Given the description of an element on the screen output the (x, y) to click on. 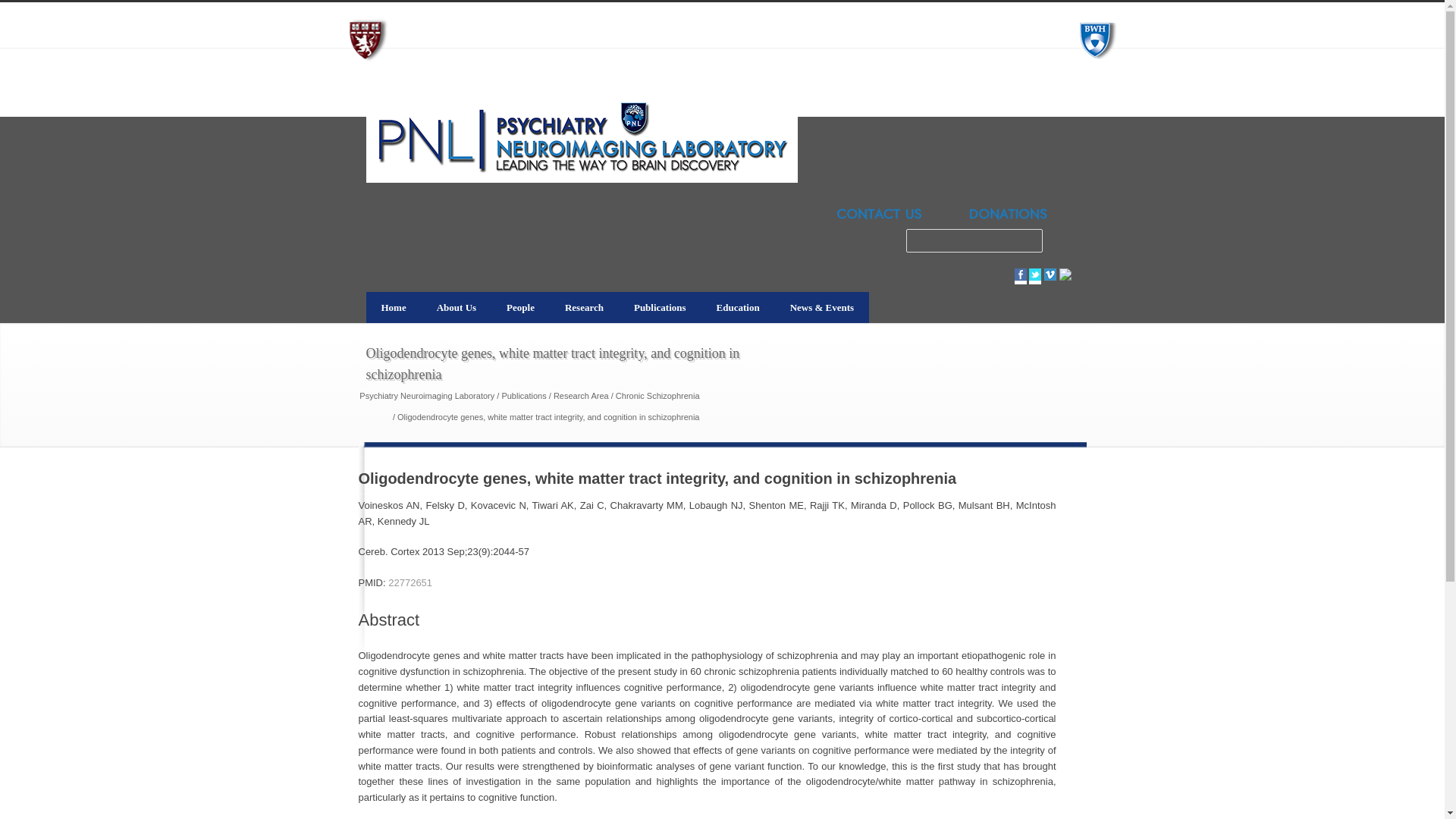
Vimeo (1050, 276)
Education (737, 306)
Home (392, 306)
About Us (457, 306)
Twitter (1035, 276)
Research (584, 306)
Twitter (1035, 276)
Vimeo (1050, 276)
Facebook (1020, 276)
Publications (659, 306)
Instagram (1064, 276)
Facebook (1020, 276)
People (521, 306)
